Given the description of an element on the screen output the (x, y) to click on. 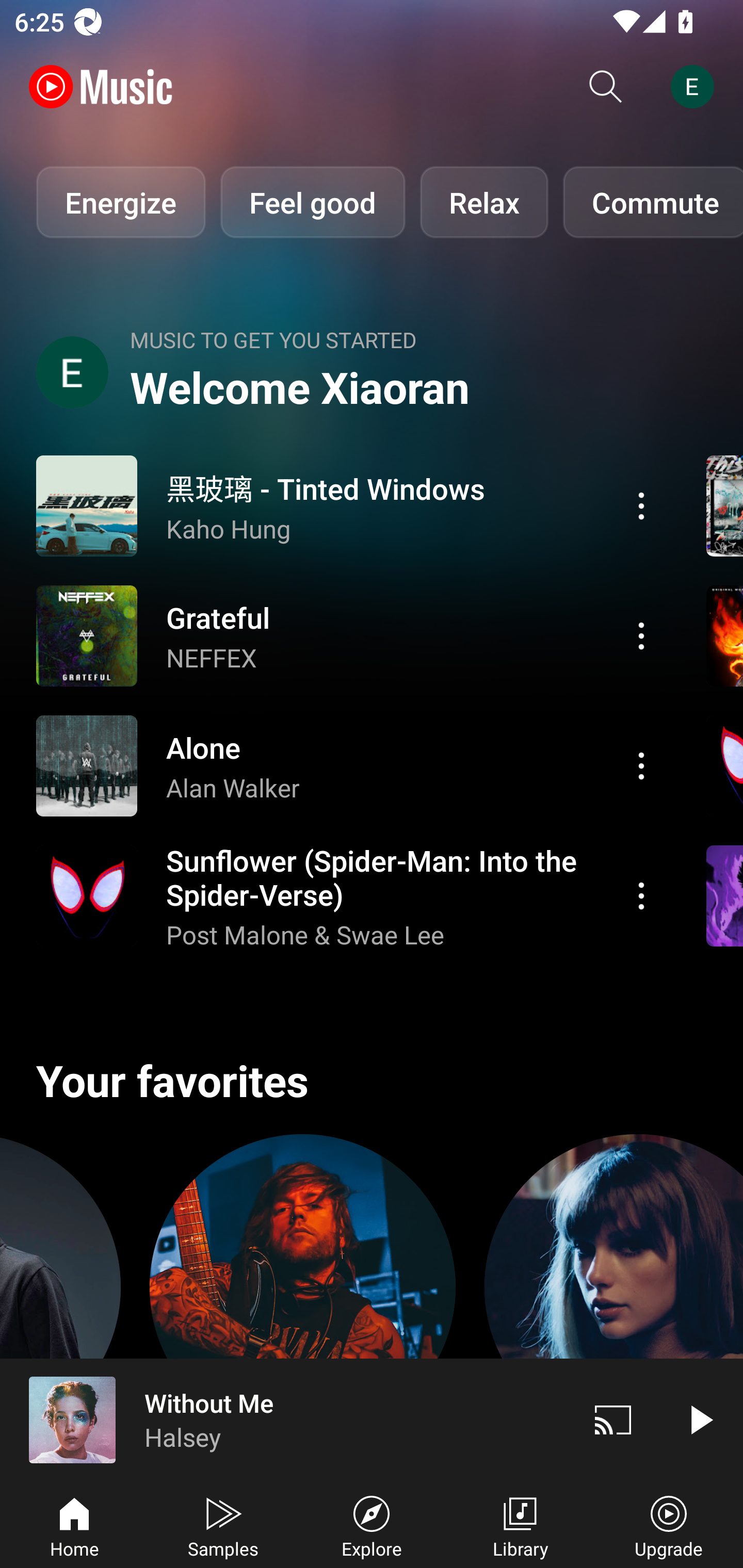
Search (605, 86)
Account (696, 86)
Action menu (349, 505)
Action menu (641, 505)
Action menu (349, 635)
Action menu (641, 635)
Action menu (349, 765)
Action menu (641, 765)
Action menu (349, 896)
Action menu (641, 896)
Without Me Halsey (284, 1419)
Cast. Disconnected (612, 1419)
Play video (699, 1419)
Samples (222, 1524)
Explore (371, 1524)
Library (519, 1524)
Upgrade (668, 1524)
